Given the description of an element on the screen output the (x, y) to click on. 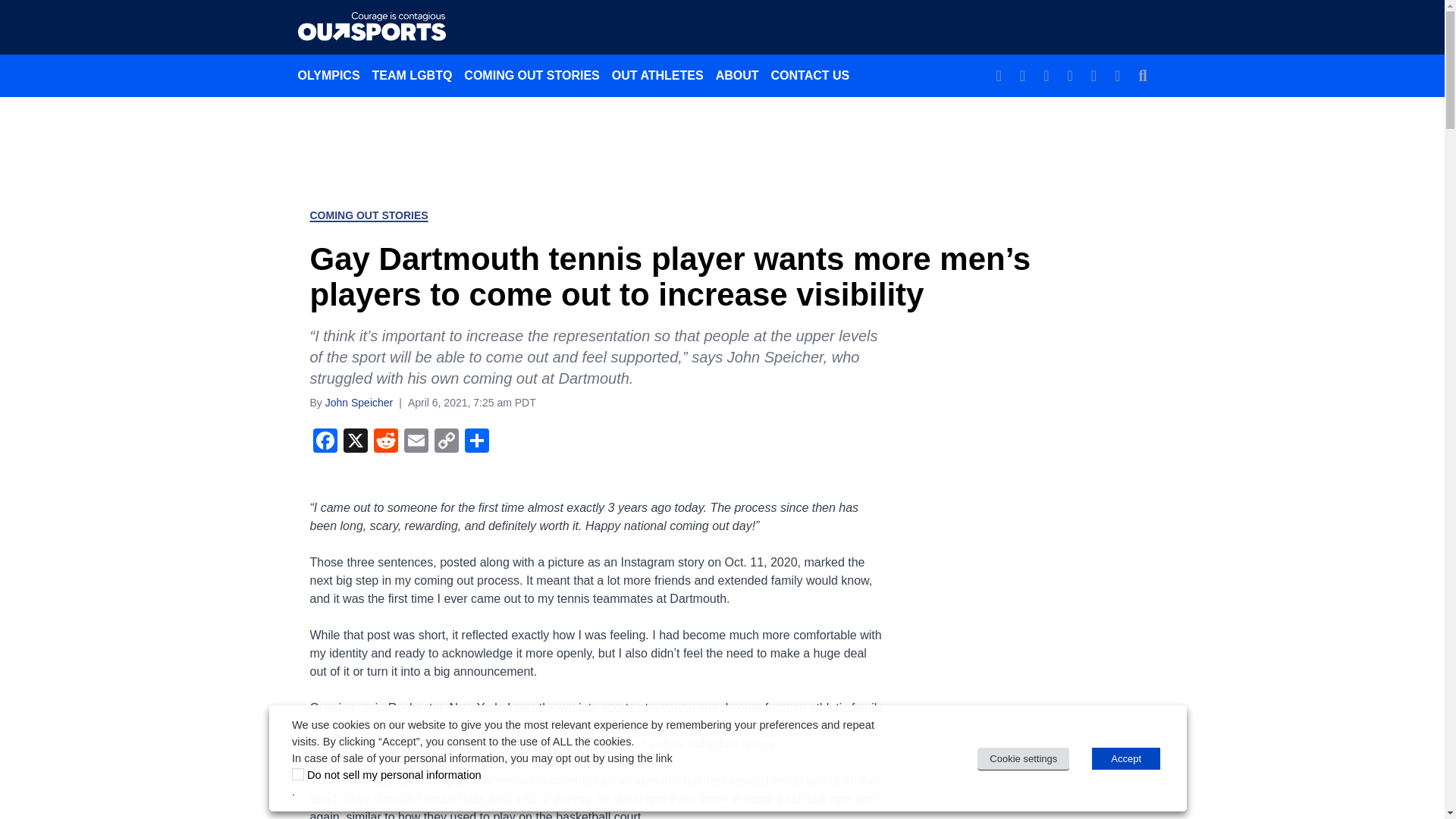
COMING OUT STORIES (531, 75)
TEAM LGBTQ (412, 75)
Email (415, 441)
Facebook (323, 441)
OLYMPICS (328, 75)
Copy Link (445, 441)
on (298, 774)
COMING OUT STORIES (368, 215)
X (354, 441)
Facebook (323, 441)
Share (476, 441)
X (354, 441)
Copy Link (445, 441)
OUT ATHLETES (657, 75)
Reddit (384, 441)
